Given the description of an element on the screen output the (x, y) to click on. 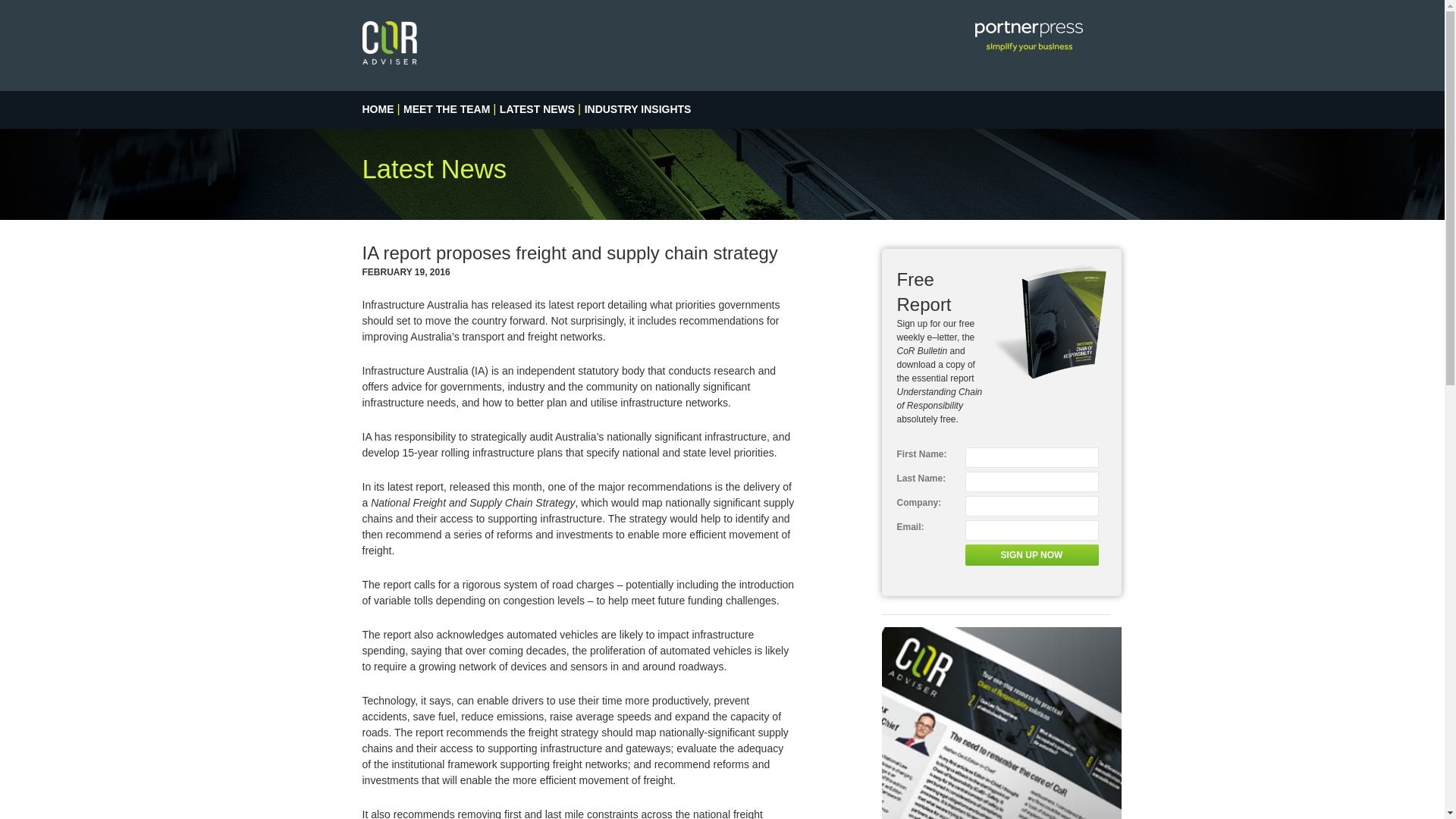
MEET THE TEAM Element type: text (446, 109)
HOME Element type: text (378, 109)
LATEST NEWS Element type: text (536, 109)
INDUSTRY INSIGHTS Element type: text (637, 109)
Sign up now Element type: text (1031, 554)
